Given the description of an element on the screen output the (x, y) to click on. 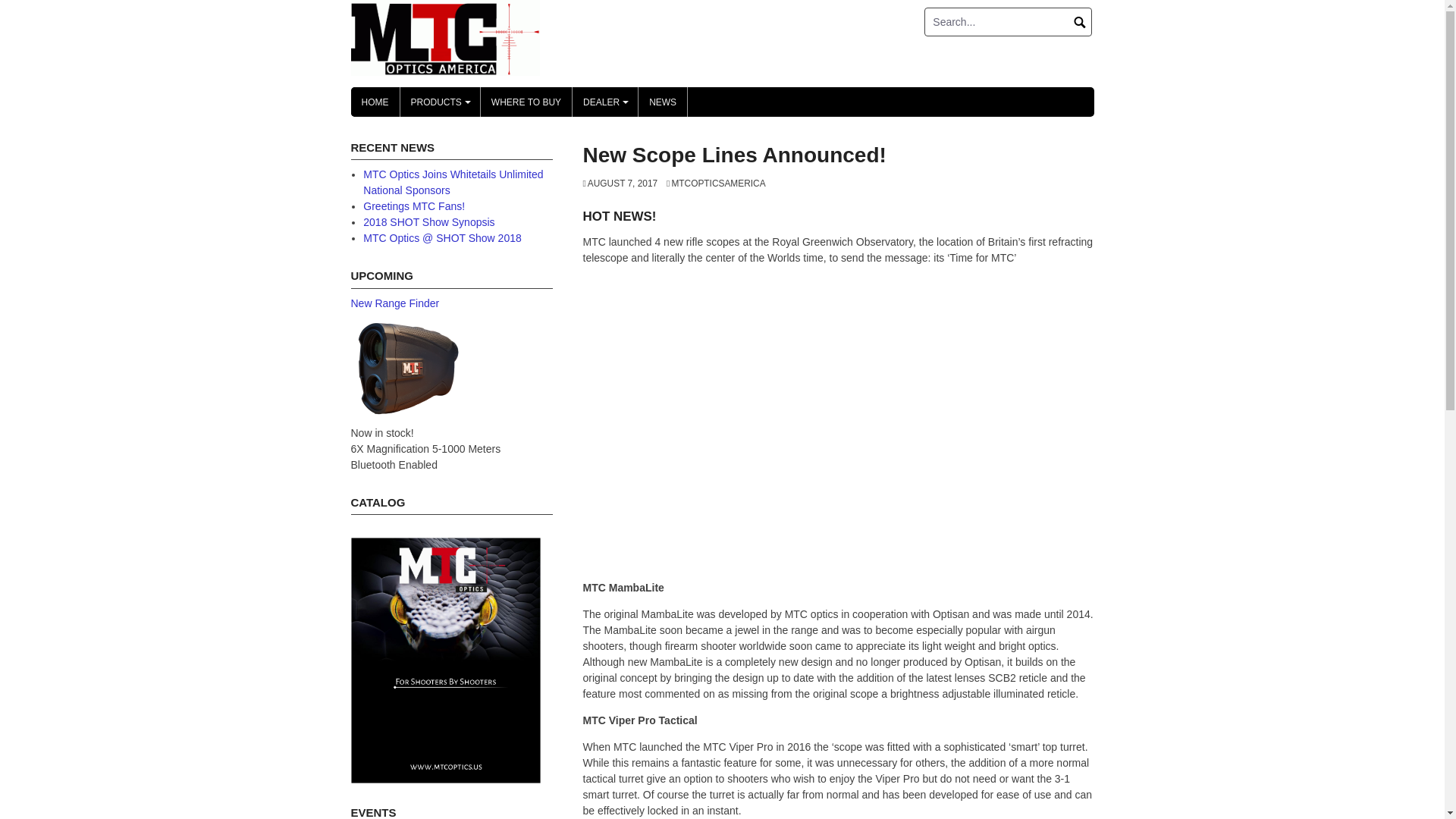
New Range Finder (394, 303)
2018 SHOT Show Synopsis (428, 222)
WHERE TO BUY (526, 101)
MTC Optics Joins Whitetails Unlimited National Sponsors (452, 182)
HOME (374, 101)
MTCOPTICSAMERICA (715, 183)
AUGUST 7, 2017 (620, 183)
Greetings MTC Fans! (413, 205)
Search for: (1008, 21)
NEWS (663, 101)
